Given the description of an element on the screen output the (x, y) to click on. 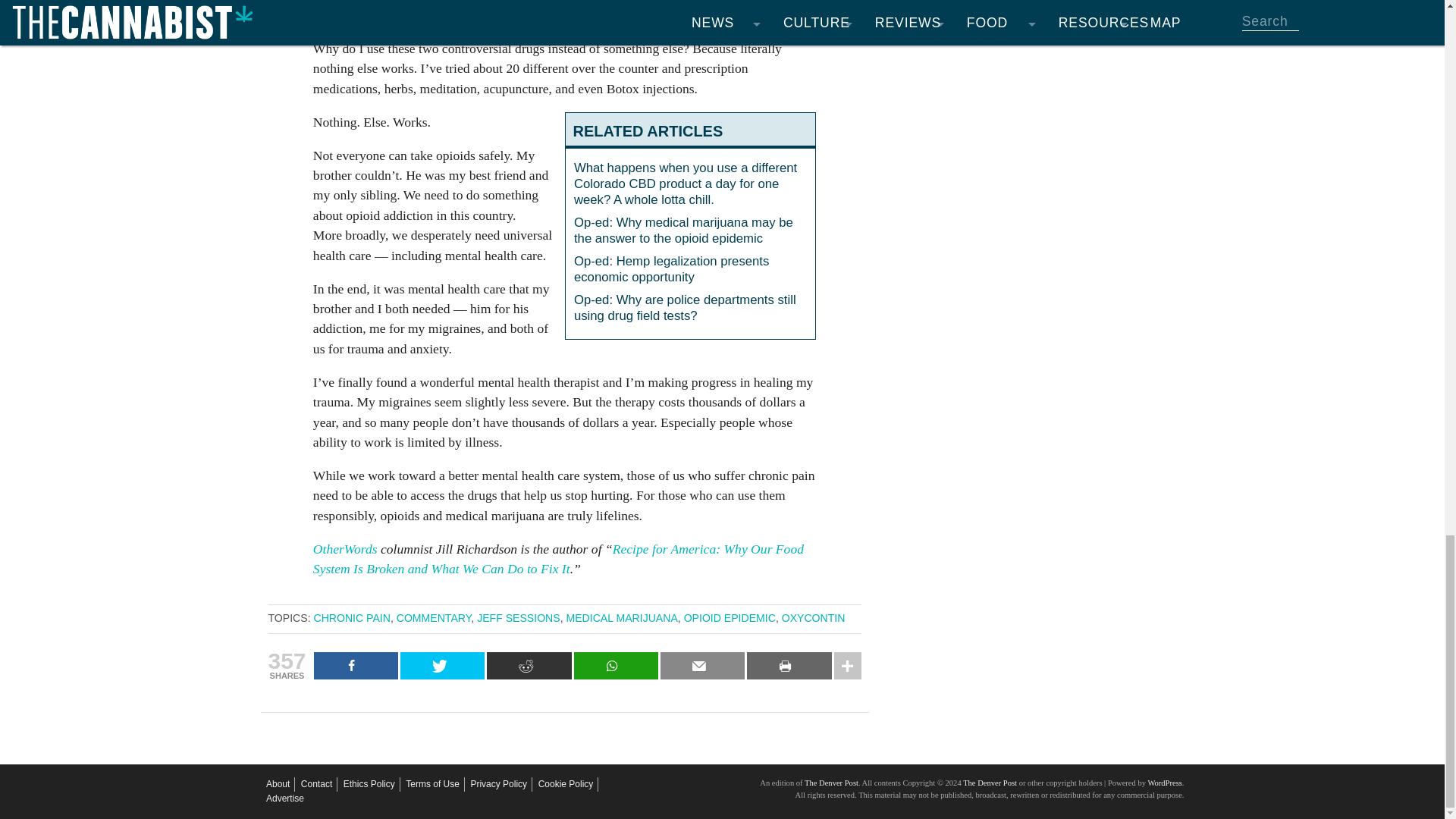
Denver Post Terms of Use (433, 784)
About The Cannabist (277, 784)
Advertise on The Cannabist (285, 798)
The Denver Post (989, 782)
Denver Post Privacy Policy (498, 784)
Denver Post Ethics Policy (368, 784)
Personal Publishing Platform (1163, 782)
The Denver Post (832, 782)
Contact The Cannabist (316, 784)
